Given the description of an element on the screen output the (x, y) to click on. 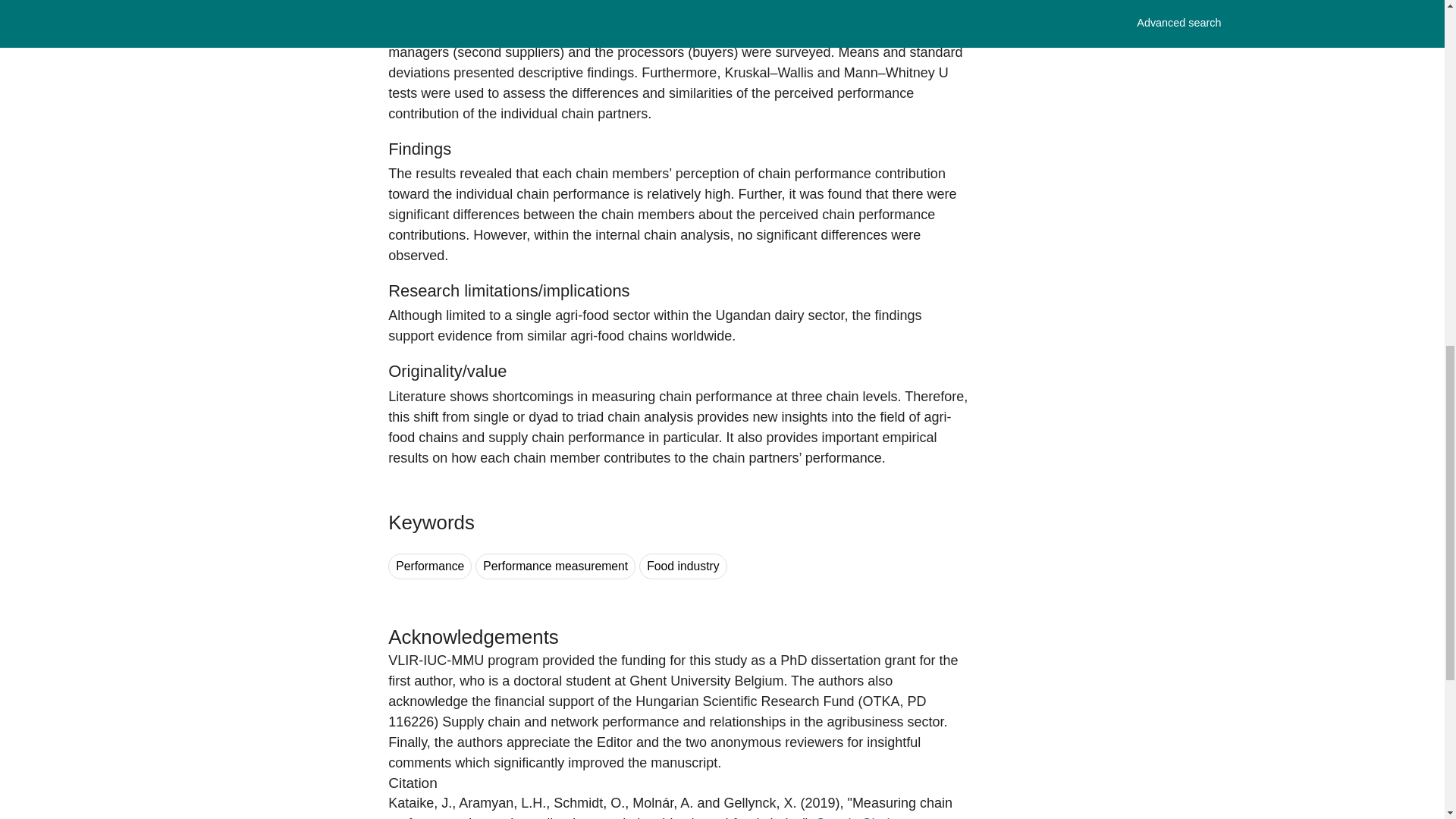
Search for keyword Food industry (682, 566)
Oliver Schmidt (588, 802)
Kataike, J. (419, 802)
Gellynck, X. (759, 802)
Performance (429, 566)
Xavier Gellynck (759, 802)
Search for keyword Performance measurement (555, 566)
Lusine H. Aramyan (502, 802)
Aramyan, L.H. (502, 802)
